Given the description of an element on the screen output the (x, y) to click on. 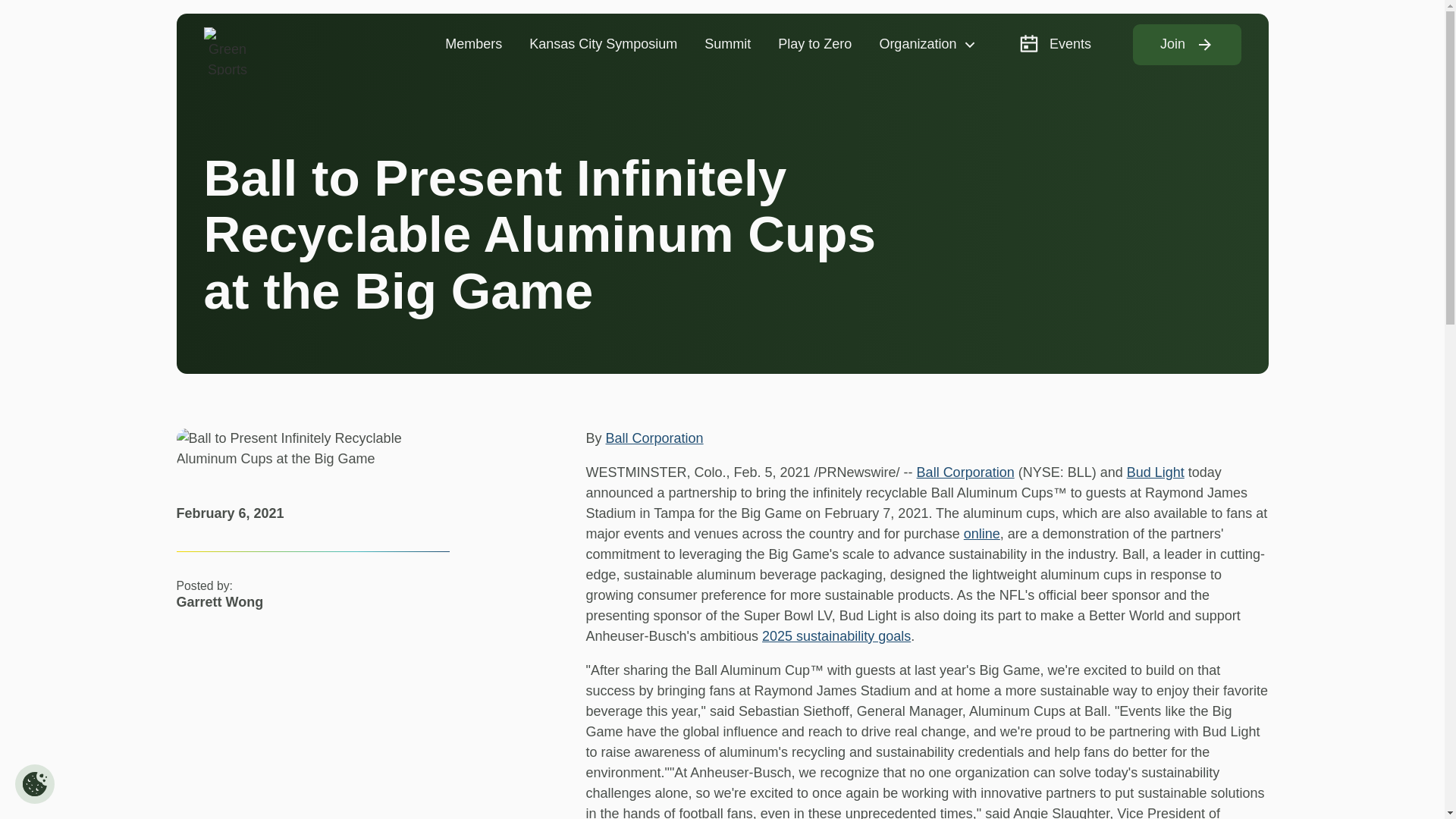
2025 sustainability goals (836, 635)
Kansas City Symposium (602, 44)
Play to Zero (814, 44)
Members (472, 44)
Join (1186, 44)
Ball Corporation (654, 437)
Summit (727, 44)
online (981, 533)
Events (1054, 43)
Bud Light (1155, 472)
Ball Corporation (965, 472)
